Given the description of an element on the screen output the (x, y) to click on. 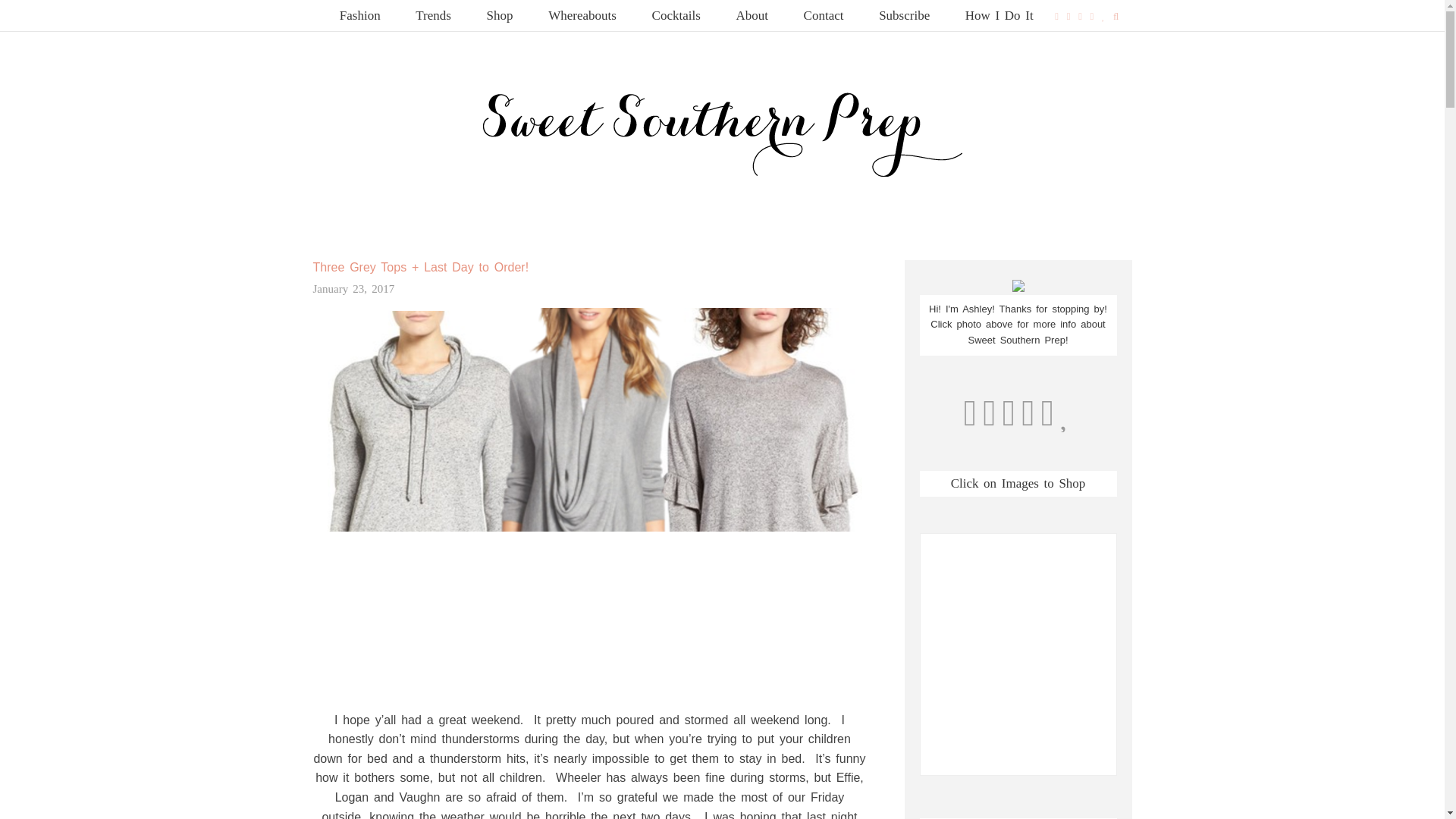
Trends (432, 15)
Shop (499, 15)
Contact (824, 15)
How I Do It (999, 15)
Subscribe (903, 15)
Skip To Content (319, 8)
About (751, 15)
Whereabouts (581, 15)
Fashion (360, 15)
Cocktails (676, 15)
